Given the description of an element on the screen output the (x, y) to click on. 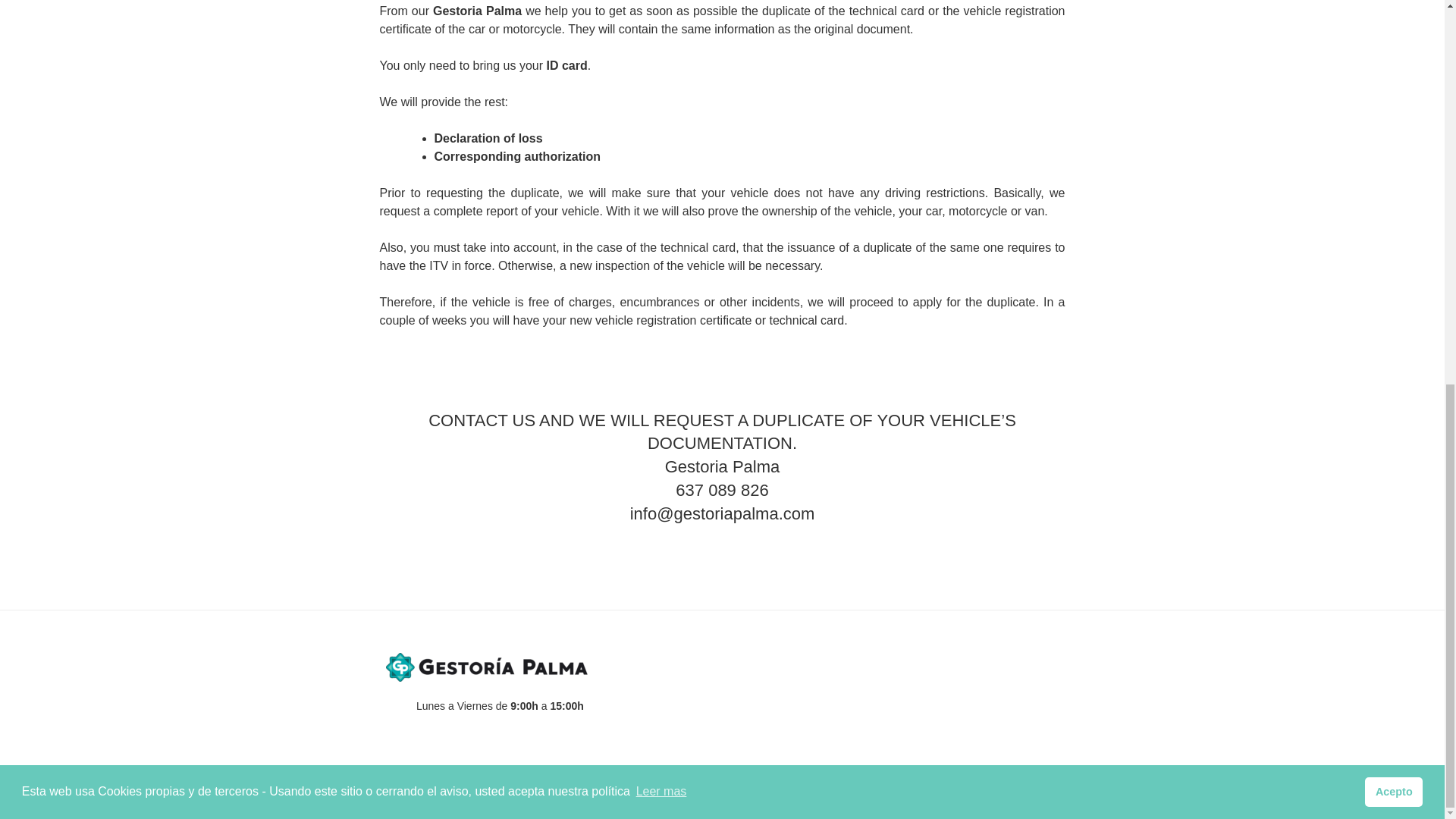
Proudly powered by WordPress (449, 783)
Acepto (1393, 70)
Leer mas (660, 69)
